Given the description of an element on the screen output the (x, y) to click on. 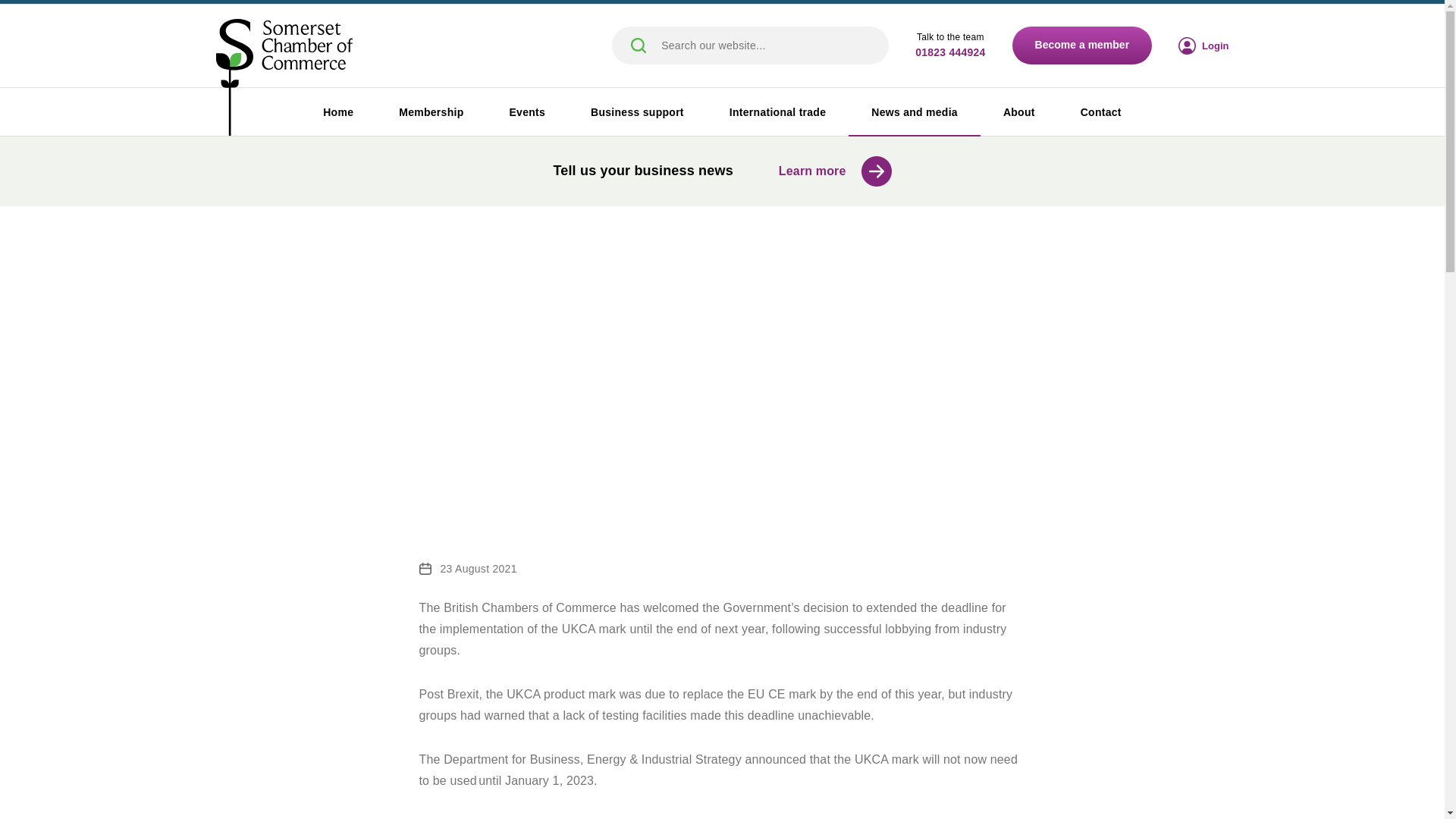
Login (1202, 45)
News and media (913, 111)
About (1018, 111)
Somerset Chamber (283, 78)
Learn more (834, 171)
Business support (636, 111)
International trade (777, 111)
Home (337, 111)
01823 444924 (950, 52)
Membership (430, 111)
Become a member (1082, 45)
Events (526, 111)
Contact (1101, 111)
